Given the description of an element on the screen output the (x, y) to click on. 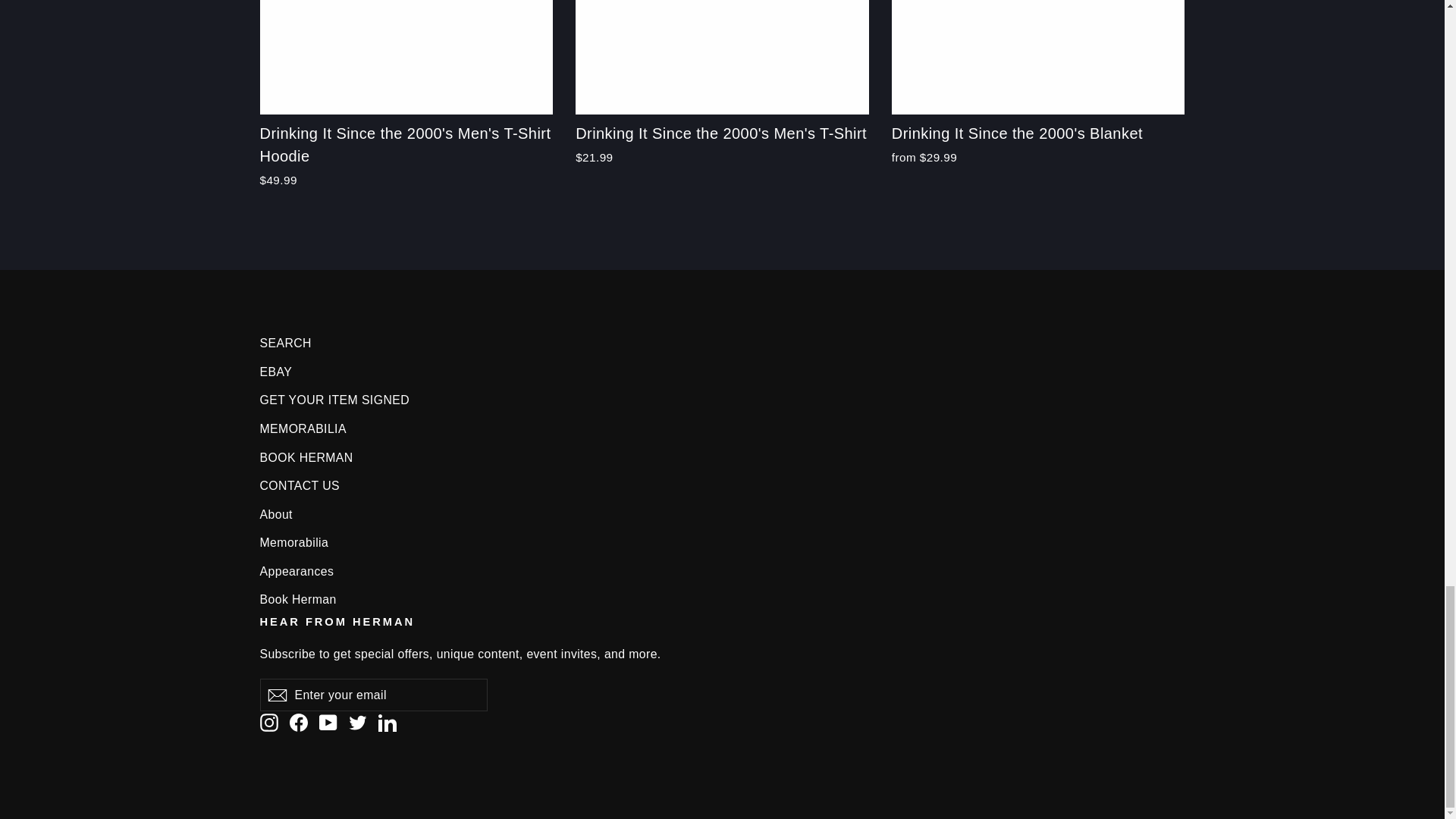
The Official Website of Herman Moore on Facebook (298, 721)
The Official Website of Herman Moore on YouTube (327, 721)
twitter (357, 722)
instagram (268, 722)
icon-email (276, 695)
The Official Website of Herman Moore on Twitter (357, 721)
